Given the description of an element on the screen output the (x, y) to click on. 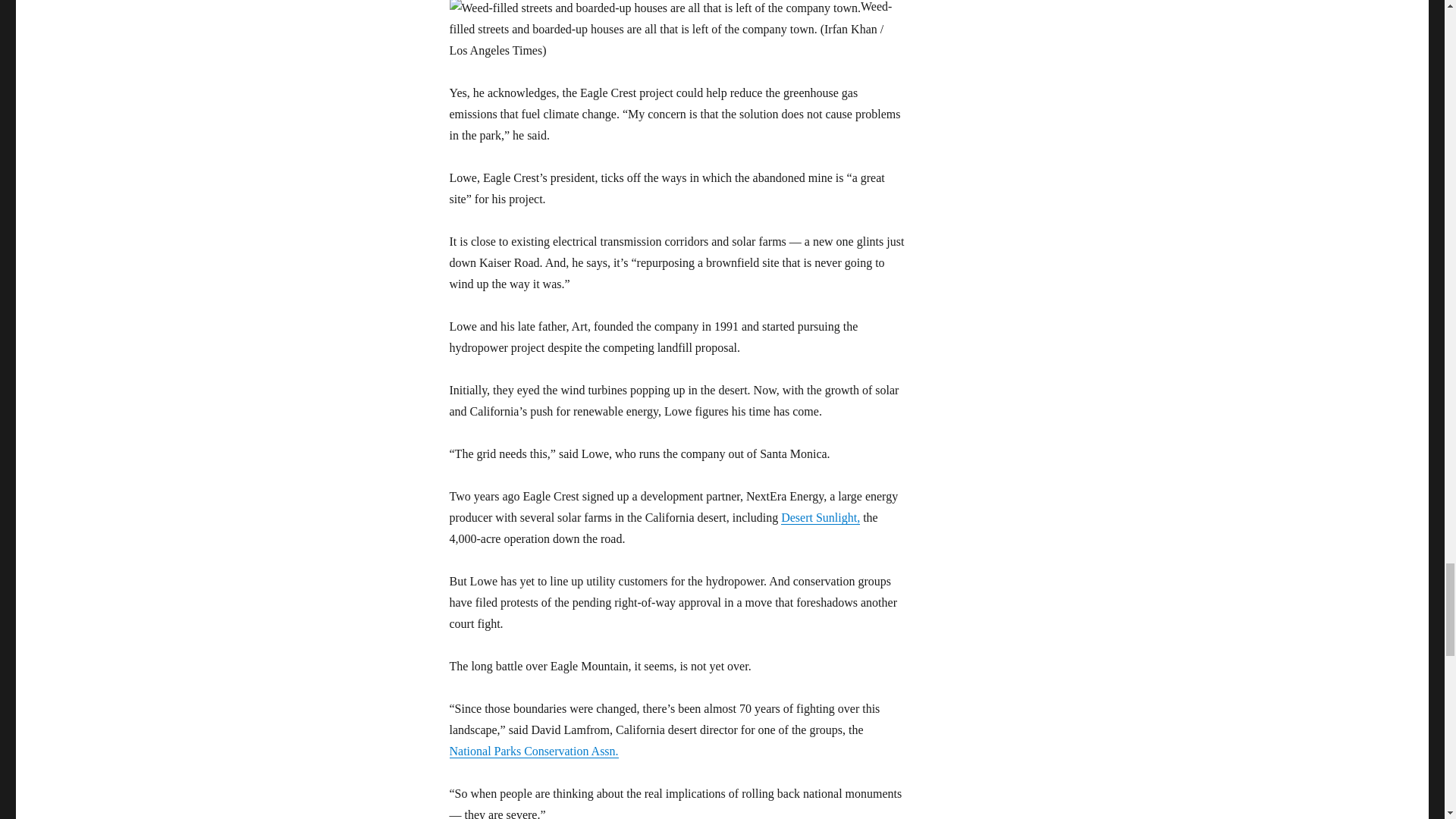
National Parks Conservation Assn. (532, 750)
Desert Sunlight, (820, 517)
